Given the description of an element on the screen output the (x, y) to click on. 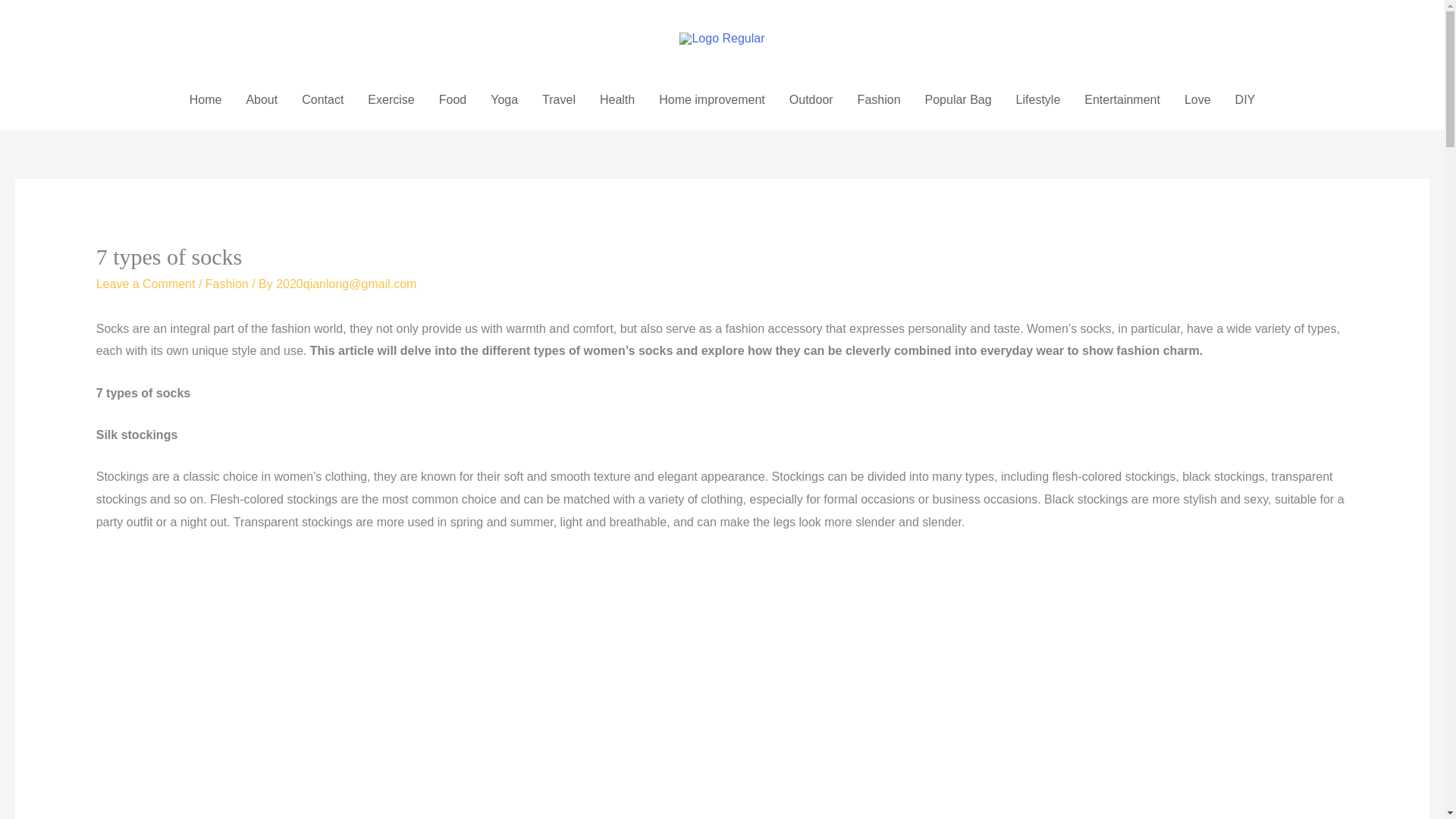
Contact (322, 99)
Travel (558, 99)
Food (452, 99)
Exercise (390, 99)
Yoga (504, 99)
Leave a Comment (145, 283)
About (260, 99)
Entertainment (1121, 99)
DIY (1245, 99)
Lifestyle (1038, 99)
Fashion (226, 283)
Outdoor (811, 99)
Home (205, 99)
Home improvement (711, 99)
Popular Bag (958, 99)
